Given the description of an element on the screen output the (x, y) to click on. 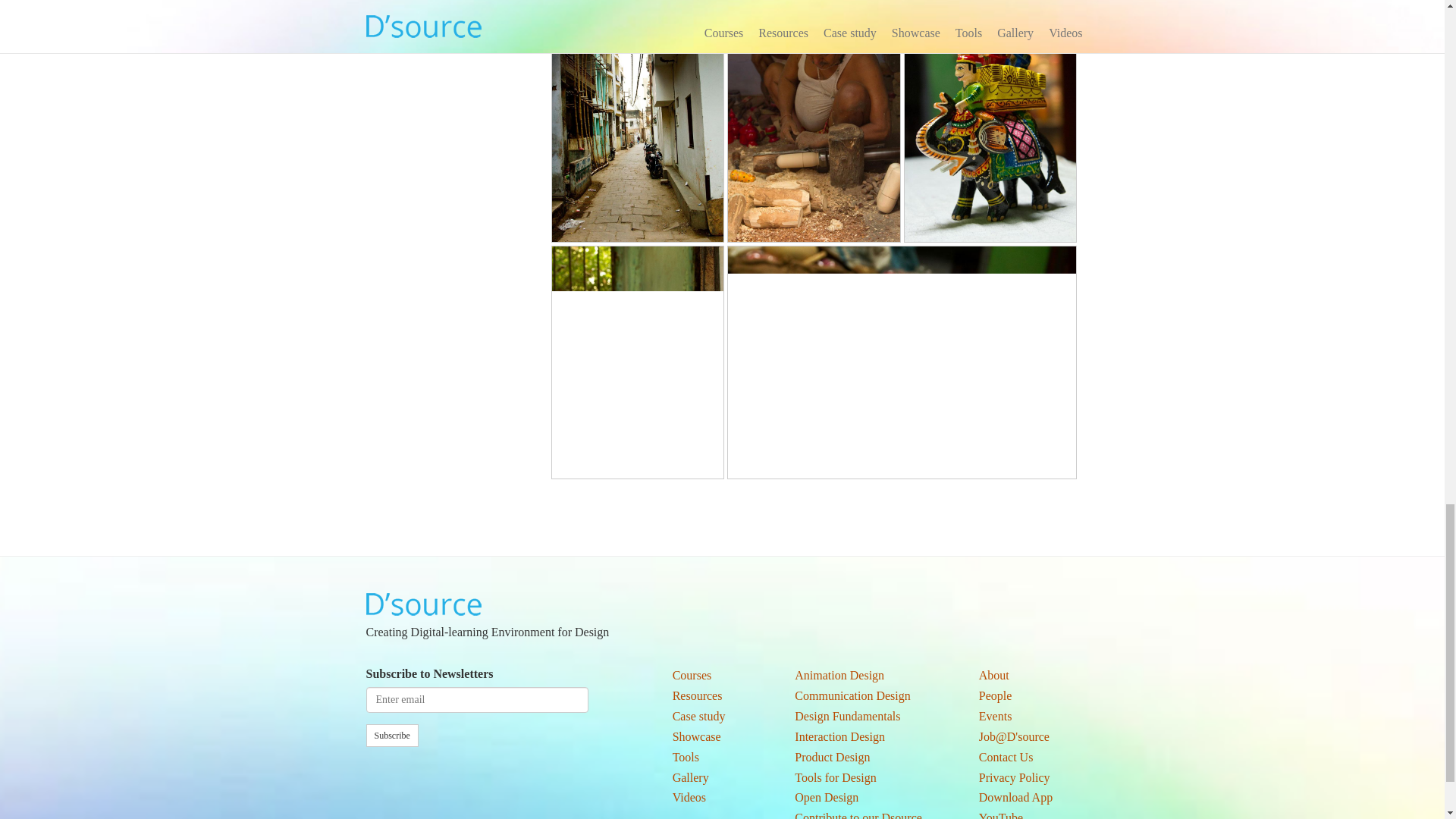
A beautiful show piece of Riksha. (901, 362)
A lovely scenario of one of the streets in Kashmiri Ganj. (637, 111)
A beautiful show piece of Riksha. (901, 360)
The working arena of craftsman. (812, 111)
Traditional wooden Sindhur Dhani. (637, 360)
